Given the description of an element on the screen output the (x, y) to click on. 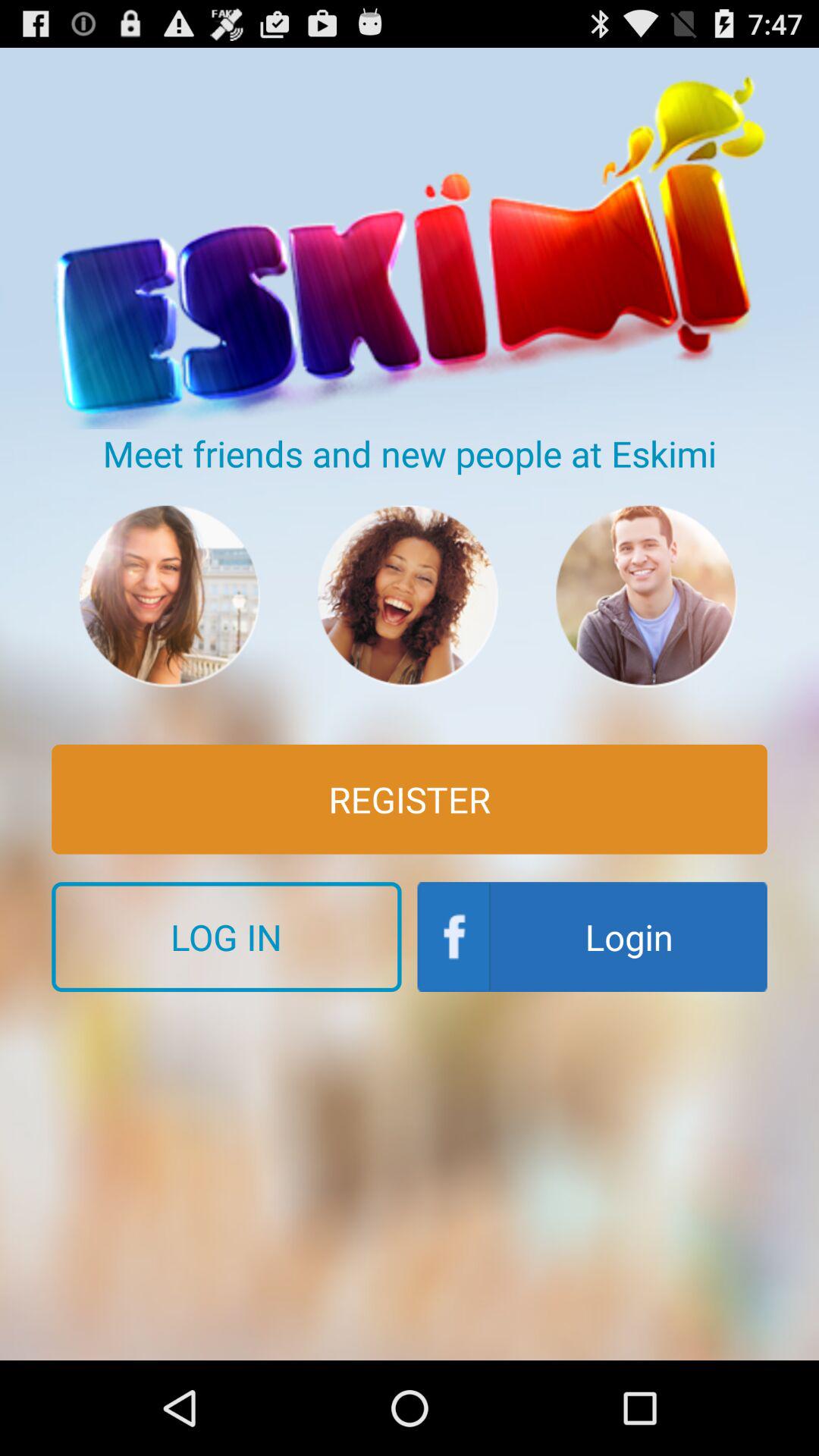
tap icon below the register item (592, 936)
